Given the description of an element on the screen output the (x, y) to click on. 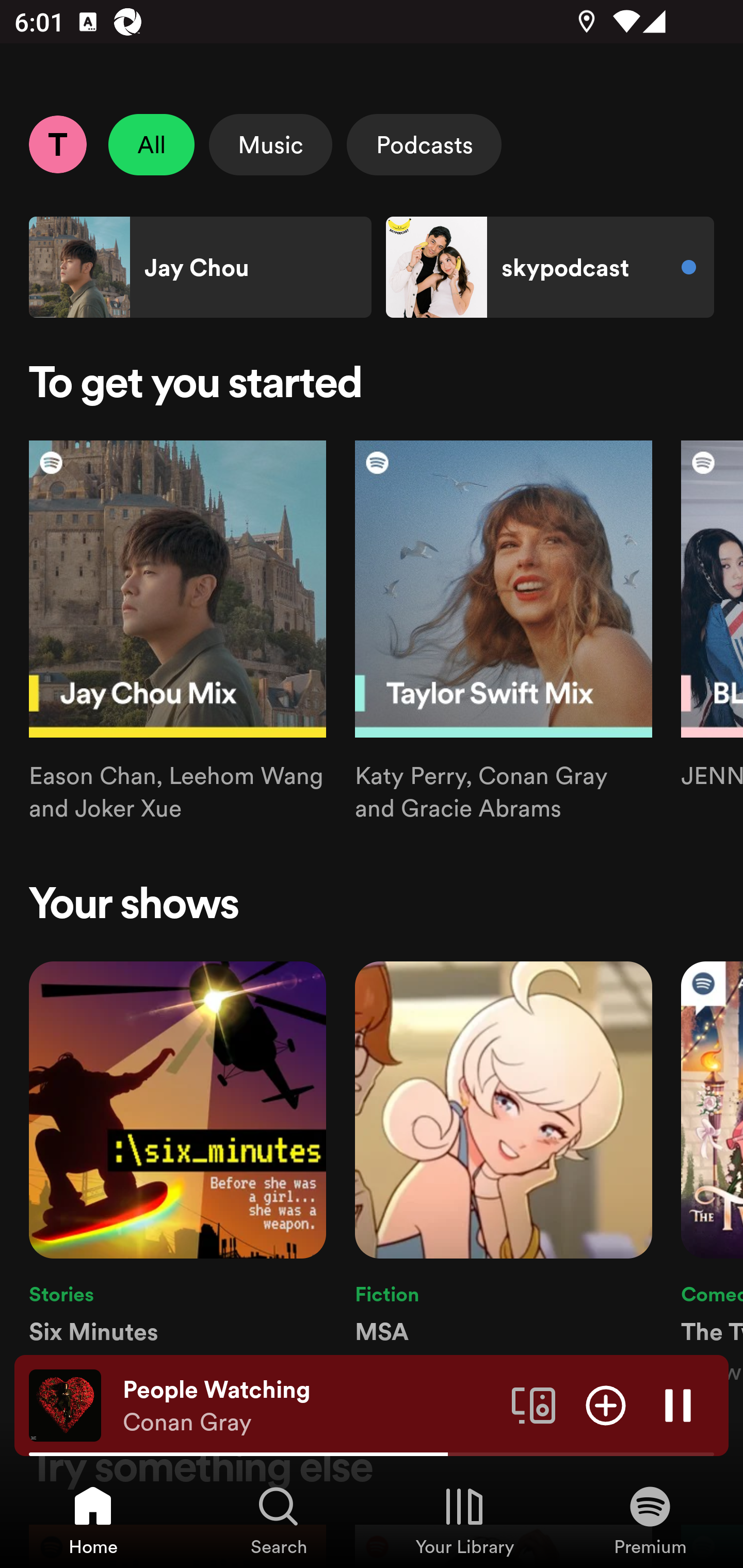
Profile (57, 144)
All Unselect All (151, 144)
Music Select Music (270, 144)
Podcasts Select Podcasts (423, 144)
Jay Chou Shortcut Jay Chou (199, 267)
skypodcast Shortcut skypodcast New content (549, 267)
Stories Six Minutes Show • GZM Shows (177, 1174)
Fiction MSA  Show • My Story Animated (503, 1174)
People Watching Conan Gray (309, 1405)
The cover art of the currently playing track (64, 1404)
Connect to a device. Opens the devices menu (533, 1404)
Add item (605, 1404)
Pause (677, 1404)
Home, Tab 1 of 4 Home Home (92, 1519)
Search, Tab 2 of 4 Search Search (278, 1519)
Your Library, Tab 3 of 4 Your Library Your Library (464, 1519)
Premium, Tab 4 of 4 Premium Premium (650, 1519)
